Given the description of an element on the screen output the (x, y) to click on. 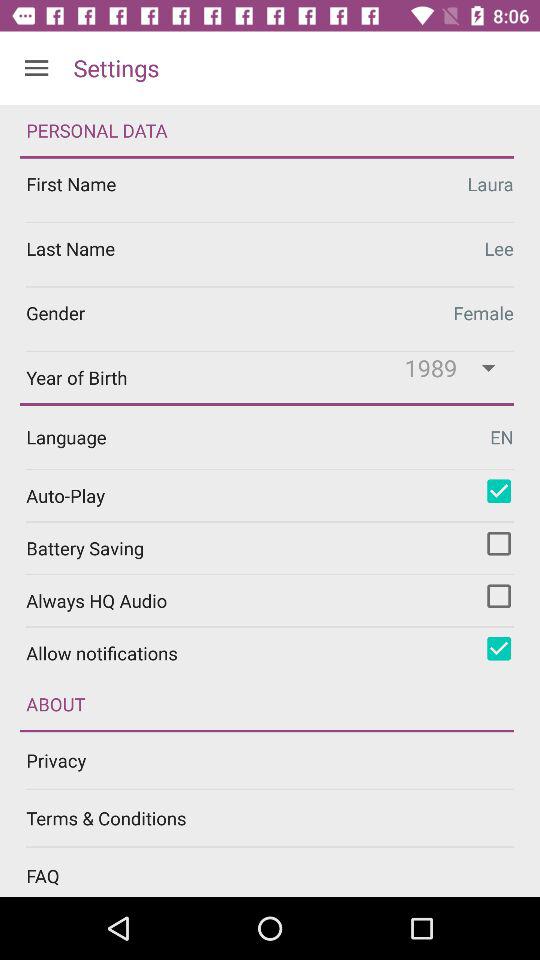
select battery saving option (499, 543)
